Given the description of an element on the screen output the (x, y) to click on. 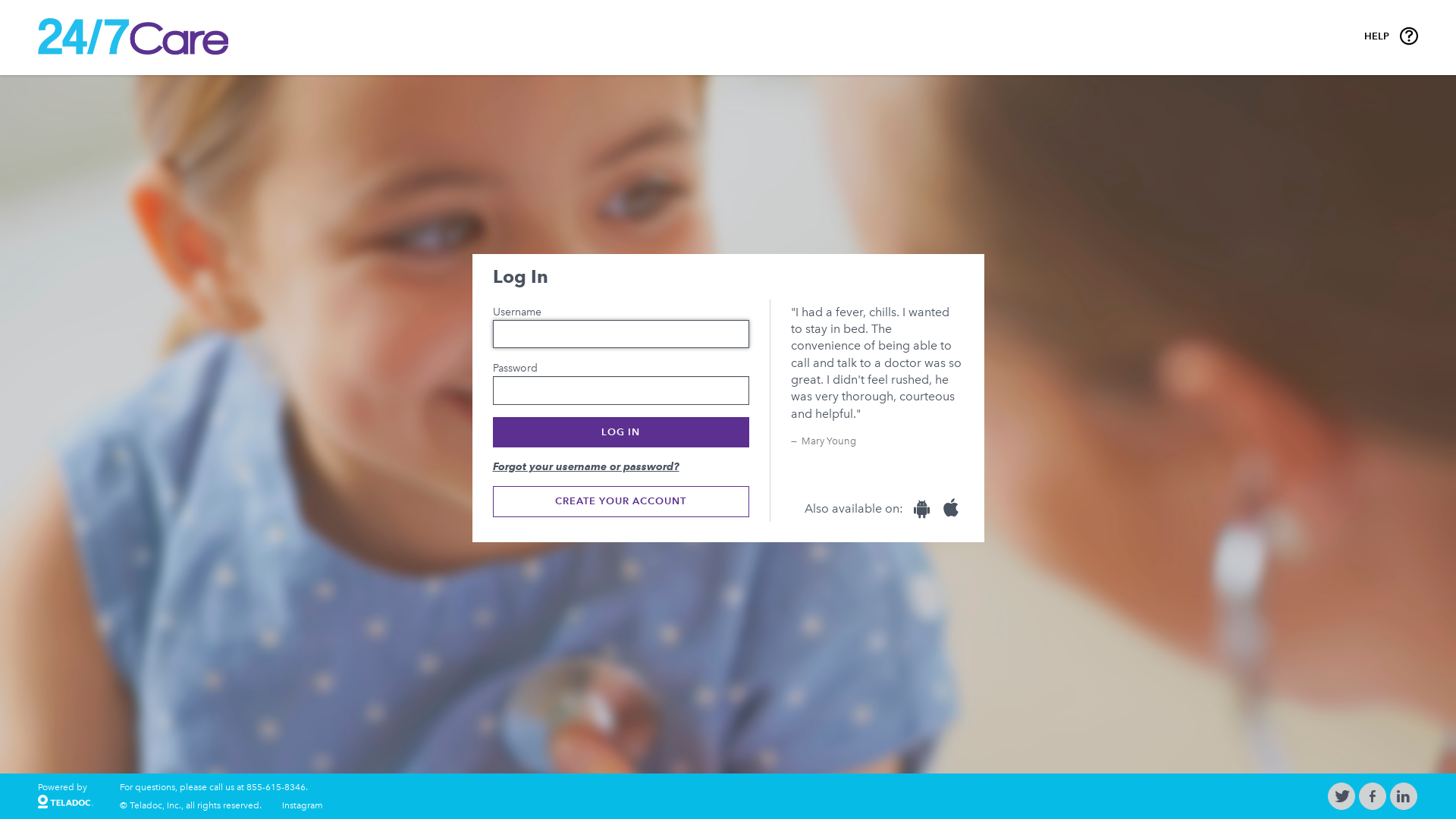
24/7 Care Element type: hover (65, 803)
Twitter Element type: text (1341, 797)
Forgot your username or password? Element type: text (620, 466)
LinkedIn Element type: text (1402, 797)
Instagram Element type: text (302, 805)
Facebook Element type: text (1372, 797)
CREATE YOUR ACCOUNT Element type: text (620, 501)
LOG IN Element type: text (620, 432)
24/7 Care Android application Element type: text (922, 507)
24/7 Care iPhone application Element type: text (950, 507)
